Given the description of an element on the screen output the (x, y) to click on. 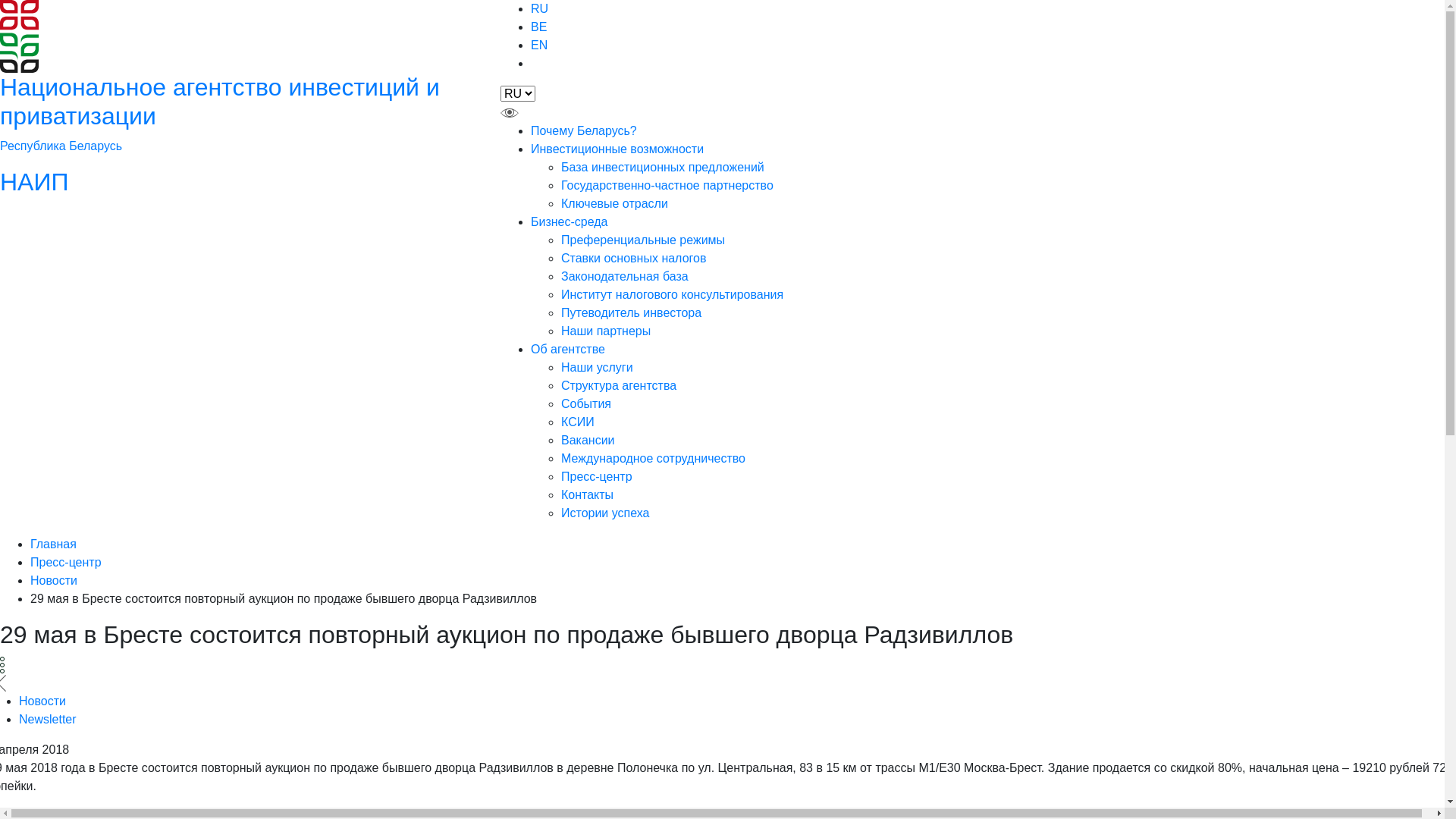
Newsletter Element type: text (47, 718)
BE Element type: text (538, 26)
EN Element type: text (538, 44)
RU Element type: text (539, 8)
